Given the description of an element on the screen output the (x, y) to click on. 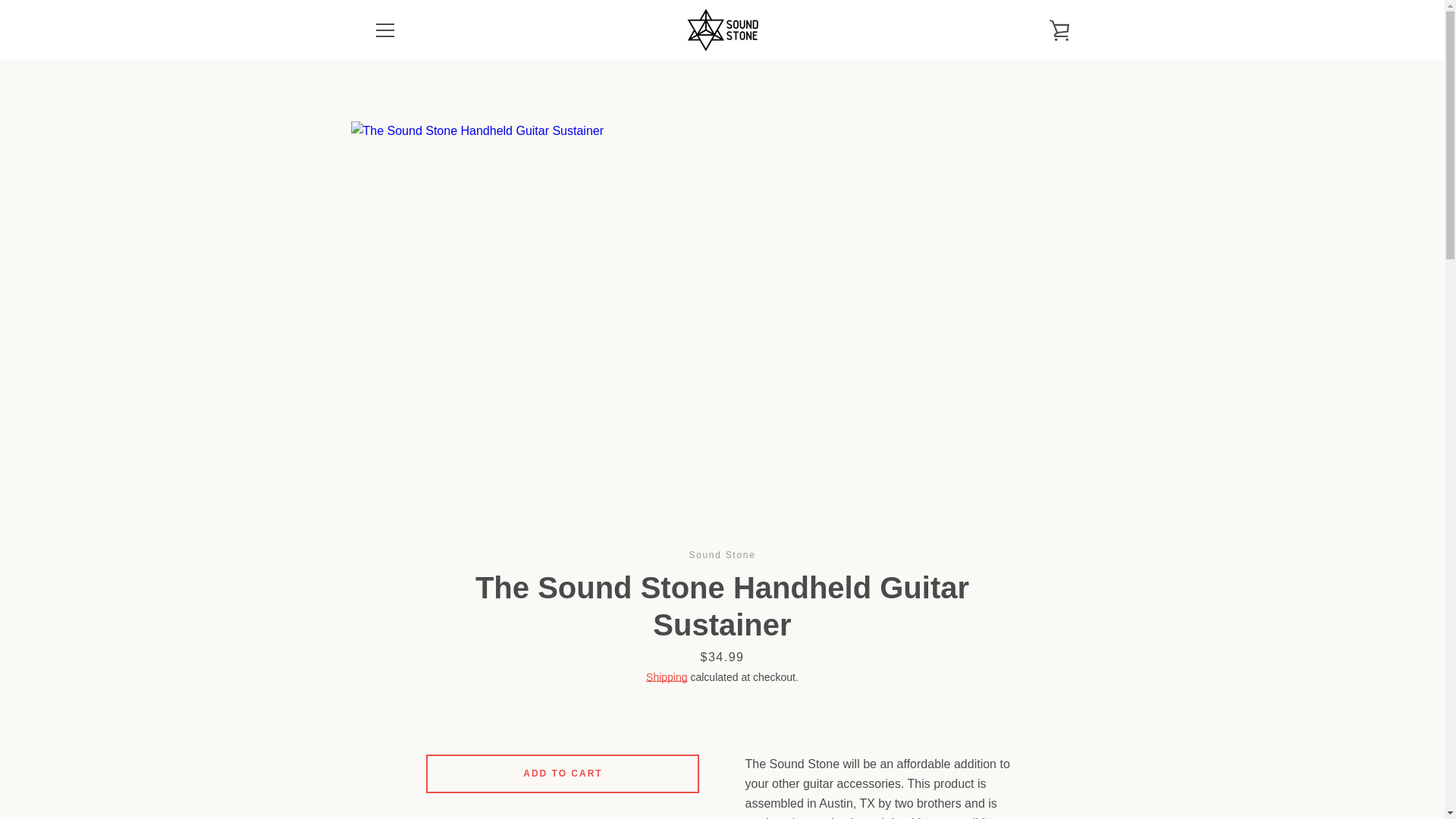
MENU (384, 30)
VIEW CART (1059, 30)
Shipping (666, 676)
ADD TO CART (562, 773)
